Given the description of an element on the screen output the (x, y) to click on. 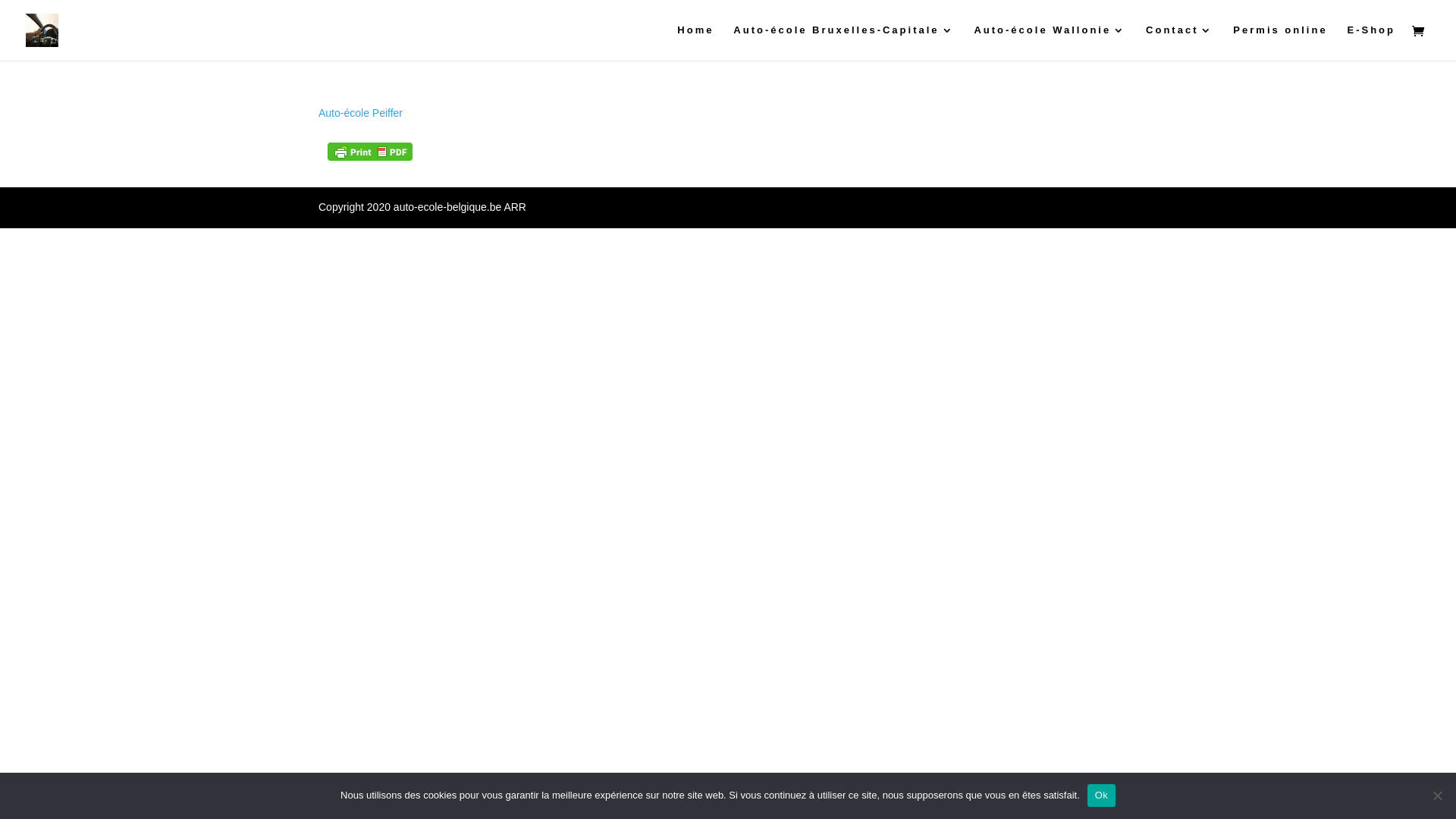
Ok Element type: text (1101, 795)
Non Element type: hover (1436, 795)
Printer Friendly, PDF & Email Element type: hover (369, 150)
Contact Element type: text (1179, 42)
Home Element type: text (695, 42)
E-Shop Element type: text (1370, 42)
Permis online Element type: text (1280, 42)
